Given the description of an element on the screen output the (x, y) to click on. 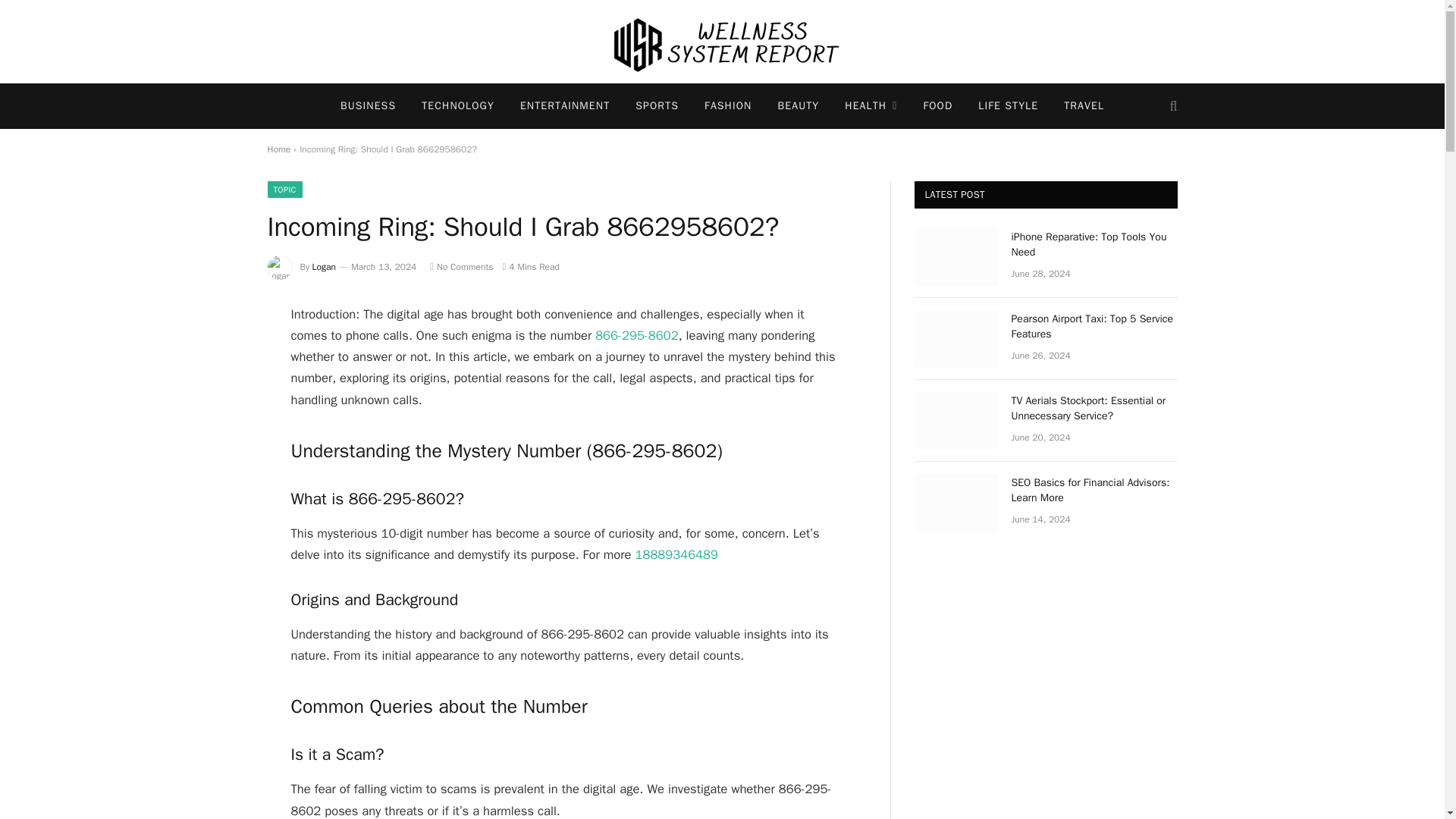
TOPIC (283, 189)
Posts by Logan (324, 266)
SEO Basics for Financial Advisors: Learn More (955, 502)
TV Aerials Stockport: Essential or Unnecessary Service? (955, 420)
FASHION (727, 105)
Logan (324, 266)
BUSINESS (368, 105)
iPhone Reparative: Top Tools You Need (955, 256)
HEALTH (870, 105)
18889346489 (675, 554)
BEAUTY (797, 105)
No Comments (461, 266)
Pearson Airport Taxi: Top 5 Service Features (955, 338)
ENTERTAINMENT (564, 105)
866-295-8602 (636, 335)
